Given the description of an element on the screen output the (x, y) to click on. 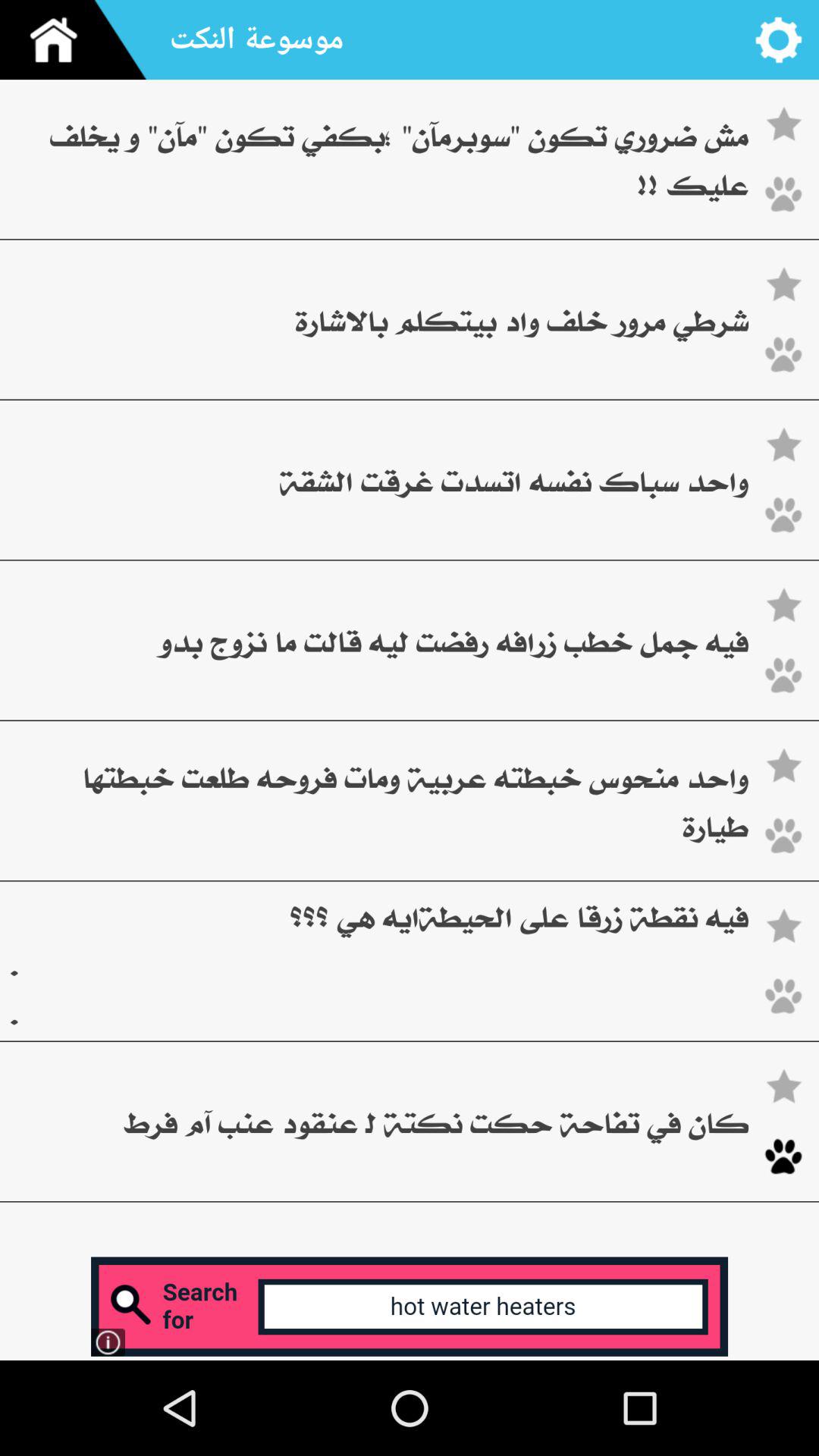
house (79, 39)
